Given the description of an element on the screen output the (x, y) to click on. 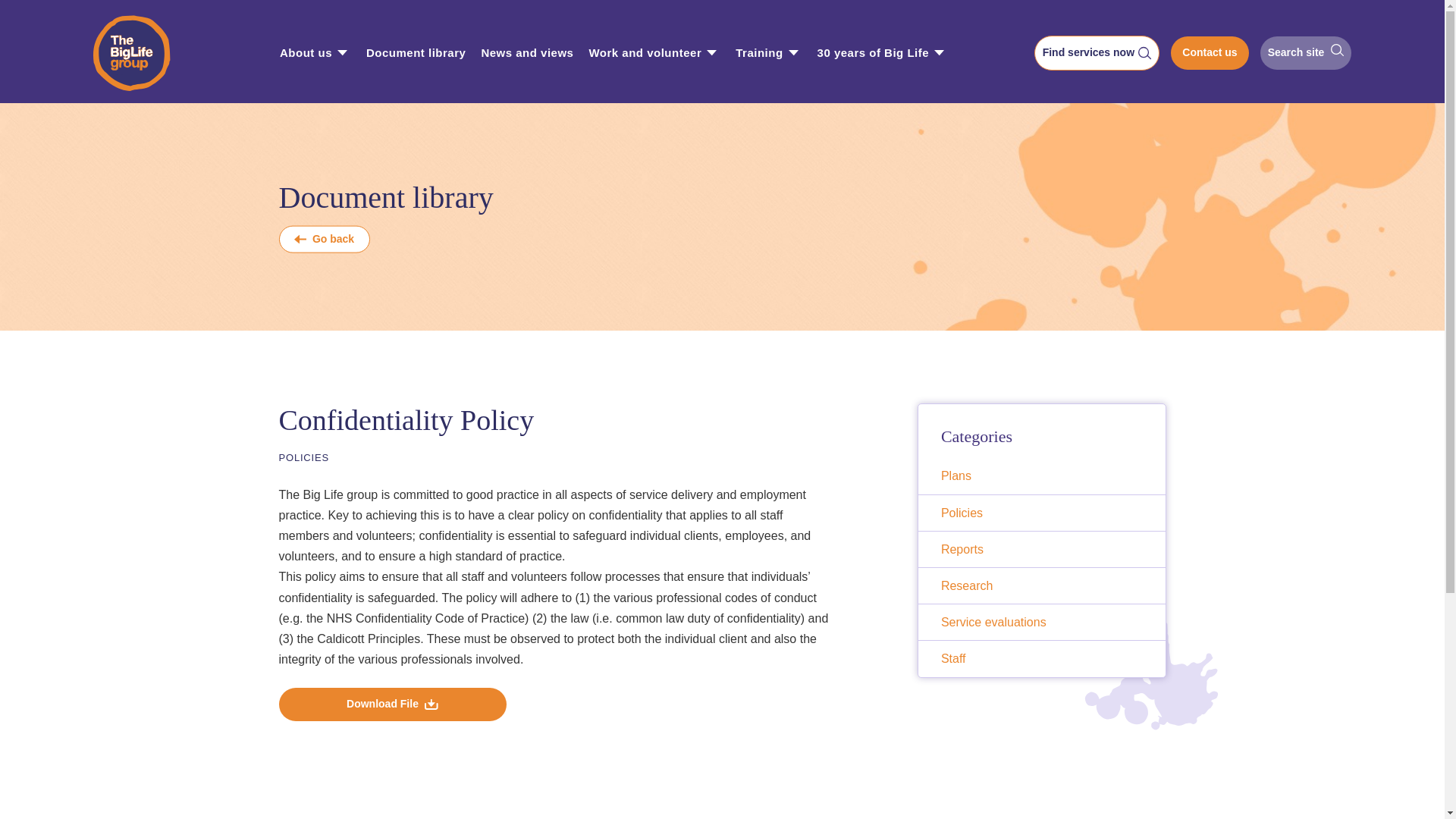
News and views (526, 53)
About us (305, 53)
30 years of Big Life (873, 53)
Document library (415, 53)
Find services now (1096, 53)
Work and volunteer (644, 53)
The Big Life group (143, 52)
